Given the description of an element on the screen output the (x, y) to click on. 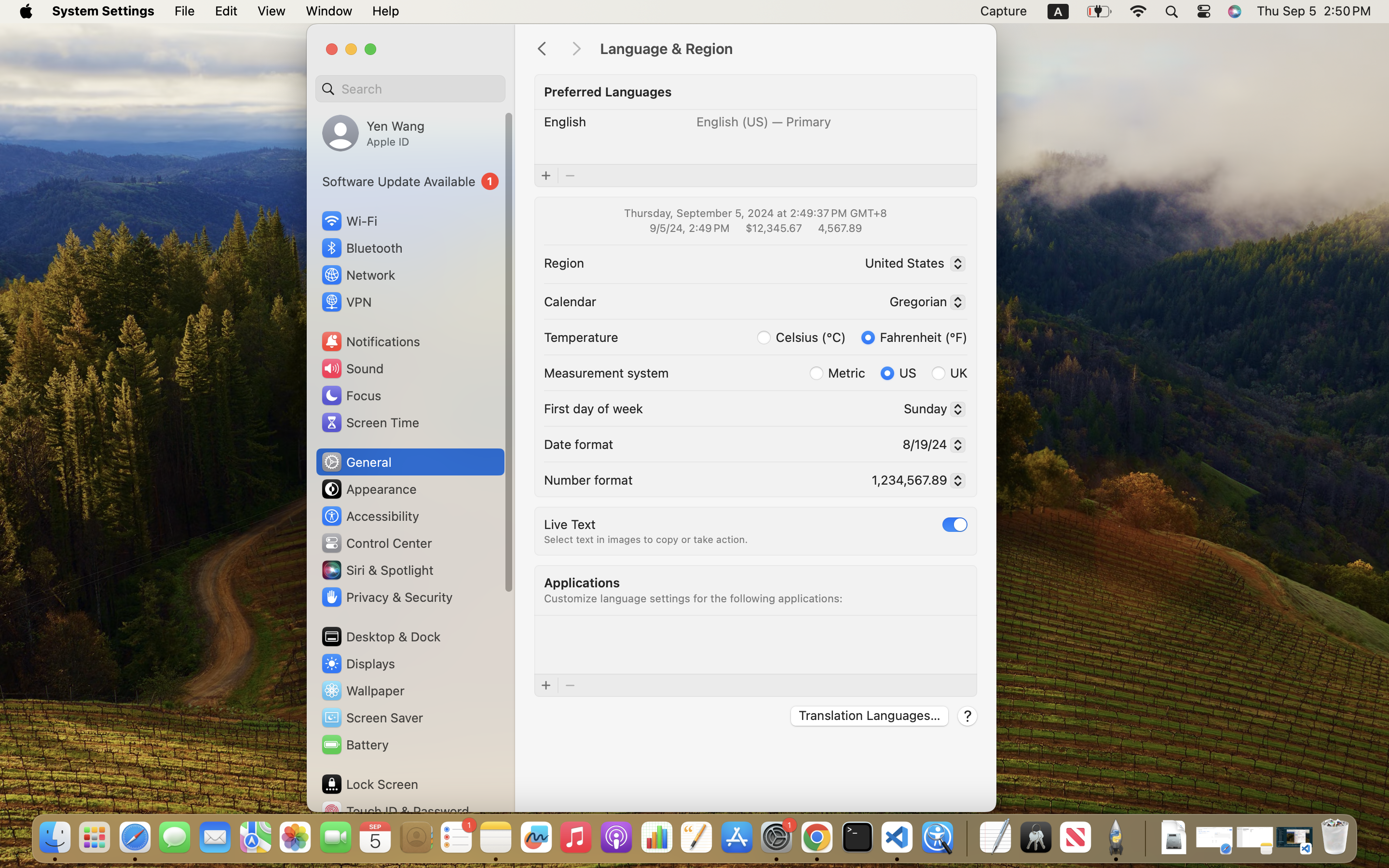
Screen Time Element type: AXStaticText (369, 422)
1 Element type: AXRadioButton (914, 336)
Gregorian Element type: AXPopUpButton (923, 303)
Date format Element type: AXStaticText (578, 443)
Number format Element type: AXStaticText (588, 479)
